Given the description of an element on the screen output the (x, y) to click on. 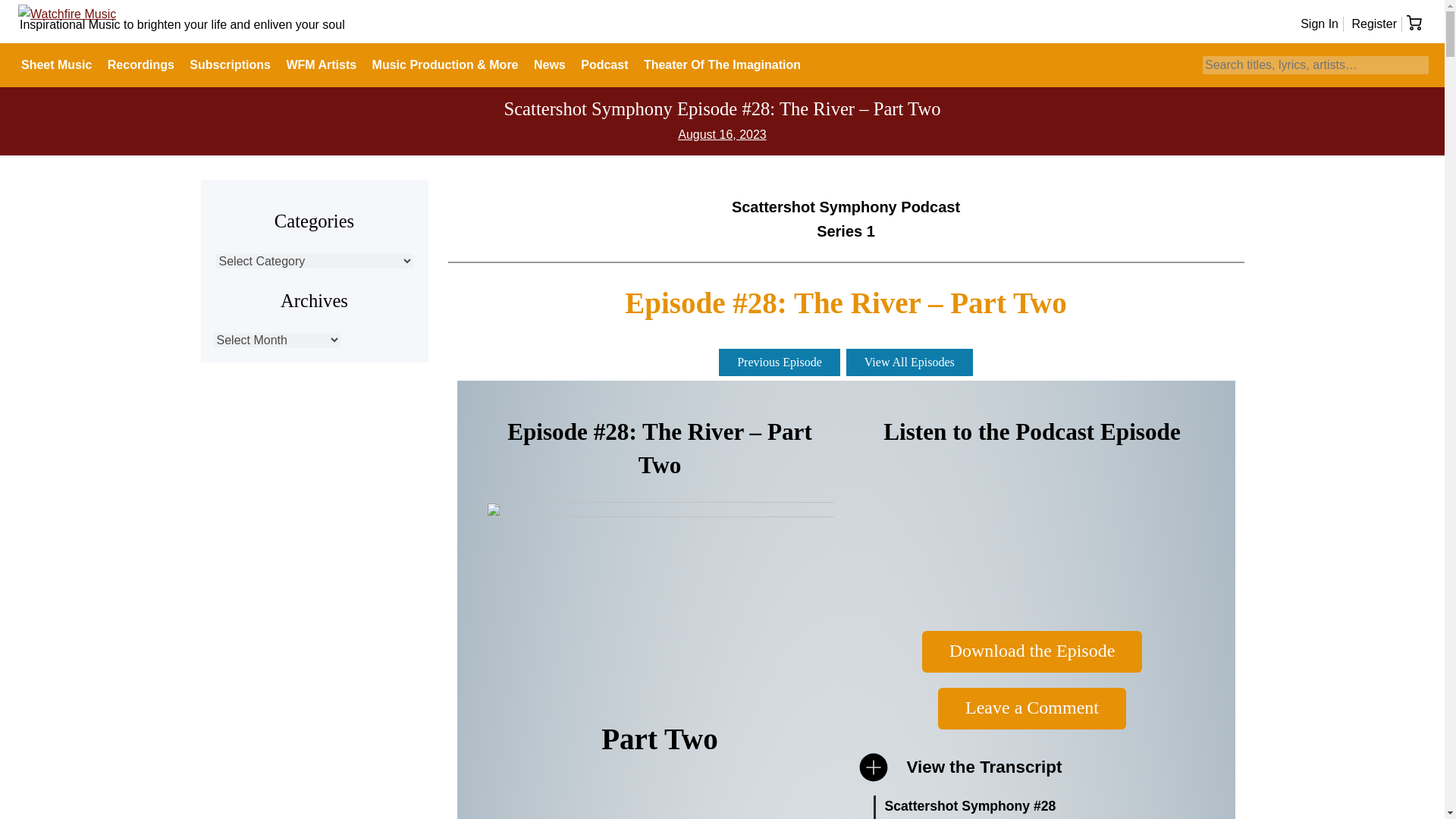
Register (1373, 23)
Sheet Music (55, 65)
Theater Of The Imagination (721, 65)
Sign In (1319, 23)
Leave a Comment (1031, 708)
Recordings (140, 65)
WFM Artists (320, 65)
